Given the description of an element on the screen output the (x, y) to click on. 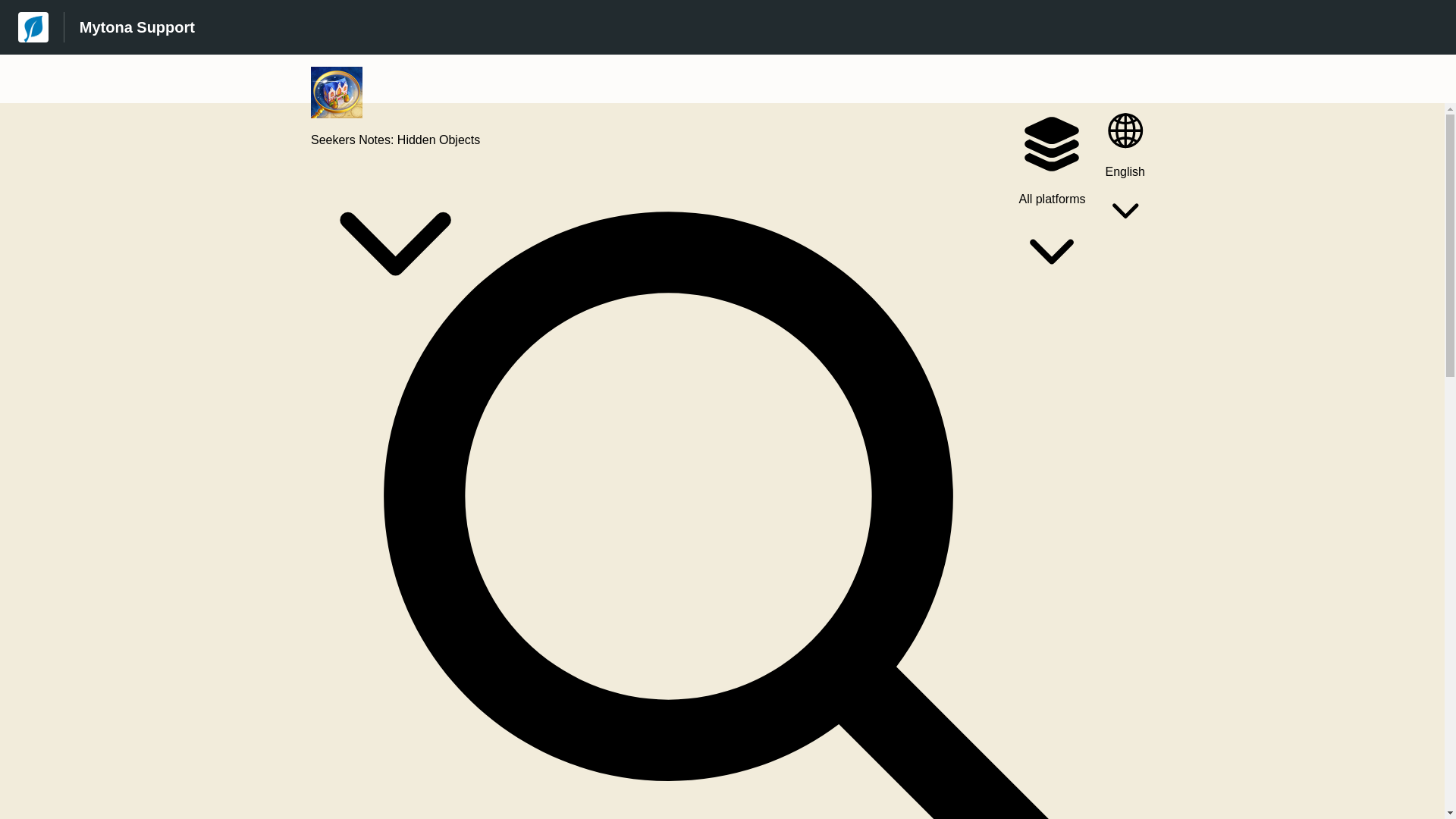
Mytona Support (137, 27)
